Given the description of an element on the screen output the (x, y) to click on. 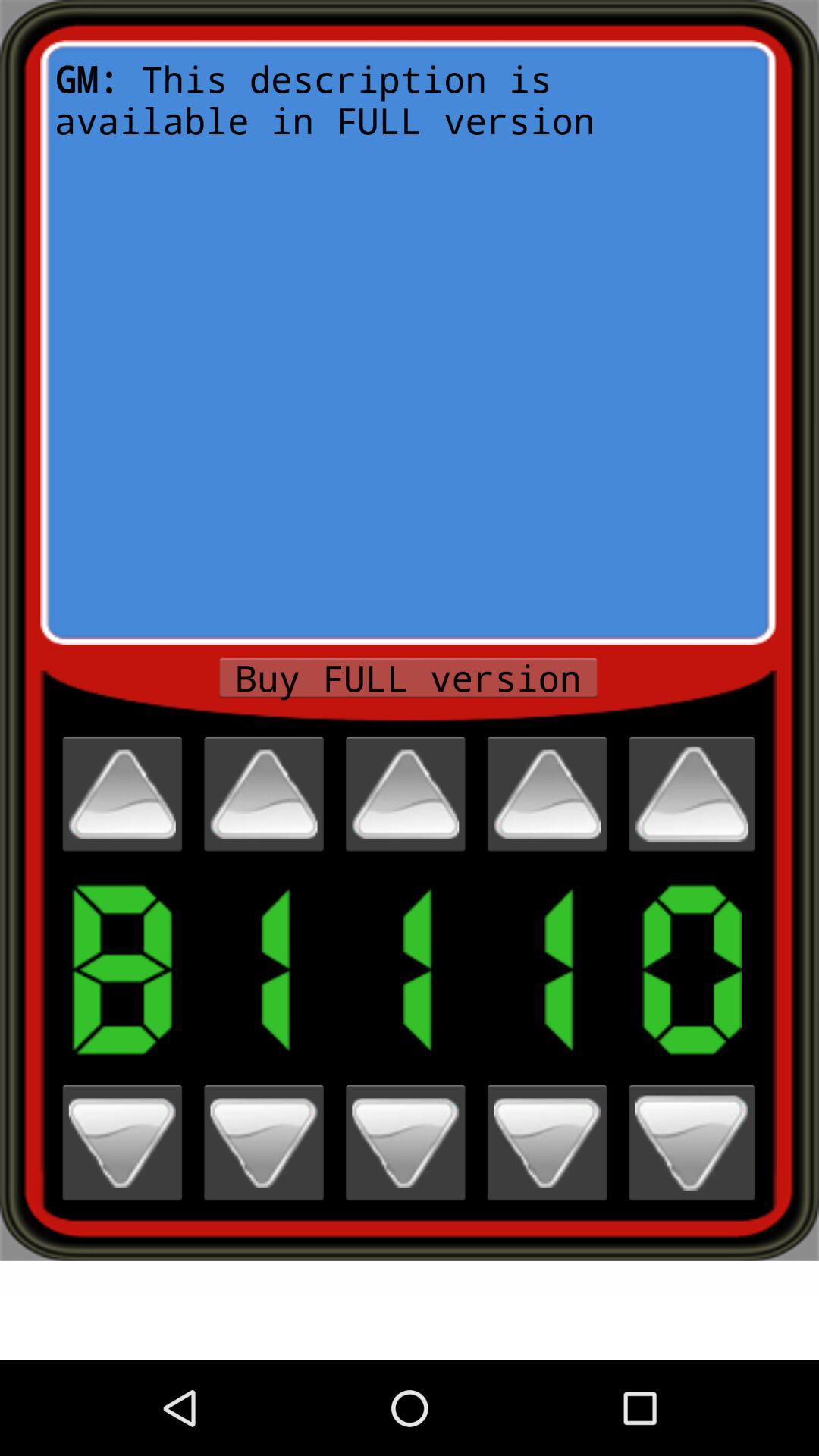
lower digit (263, 1142)
